Given the description of an element on the screen output the (x, y) to click on. 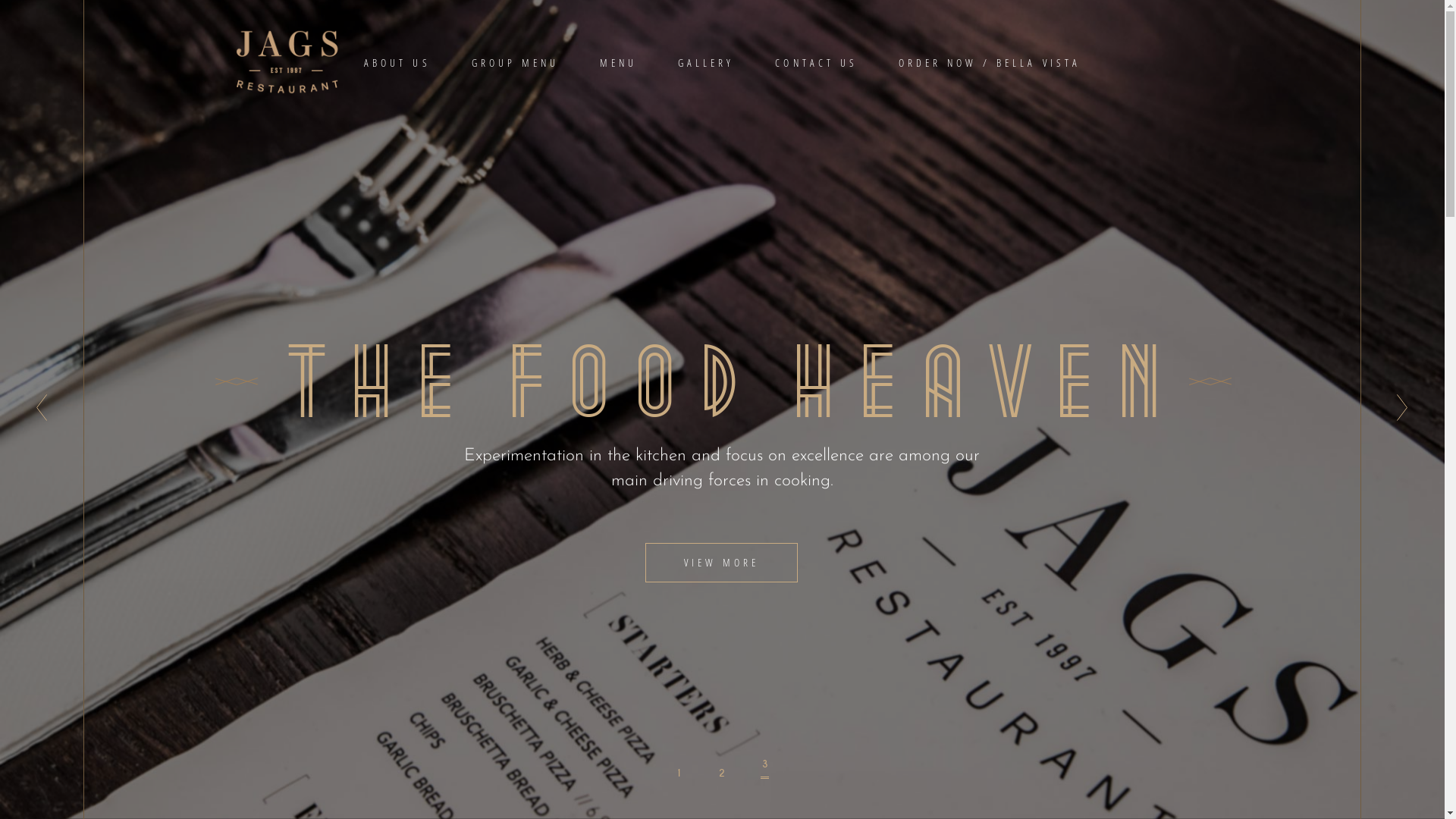
VIEW MORE Element type: text (720, 562)
GALLERY Element type: text (705, 61)
ABOUT US Element type: text (396, 61)
MENU Element type: text (618, 61)
ORDER NOW / BELLA VISTA Element type: text (989, 61)
GROUP MENU Element type: text (515, 61)
CONTACT US Element type: text (815, 61)
